Given the description of an element on the screen output the (x, y) to click on. 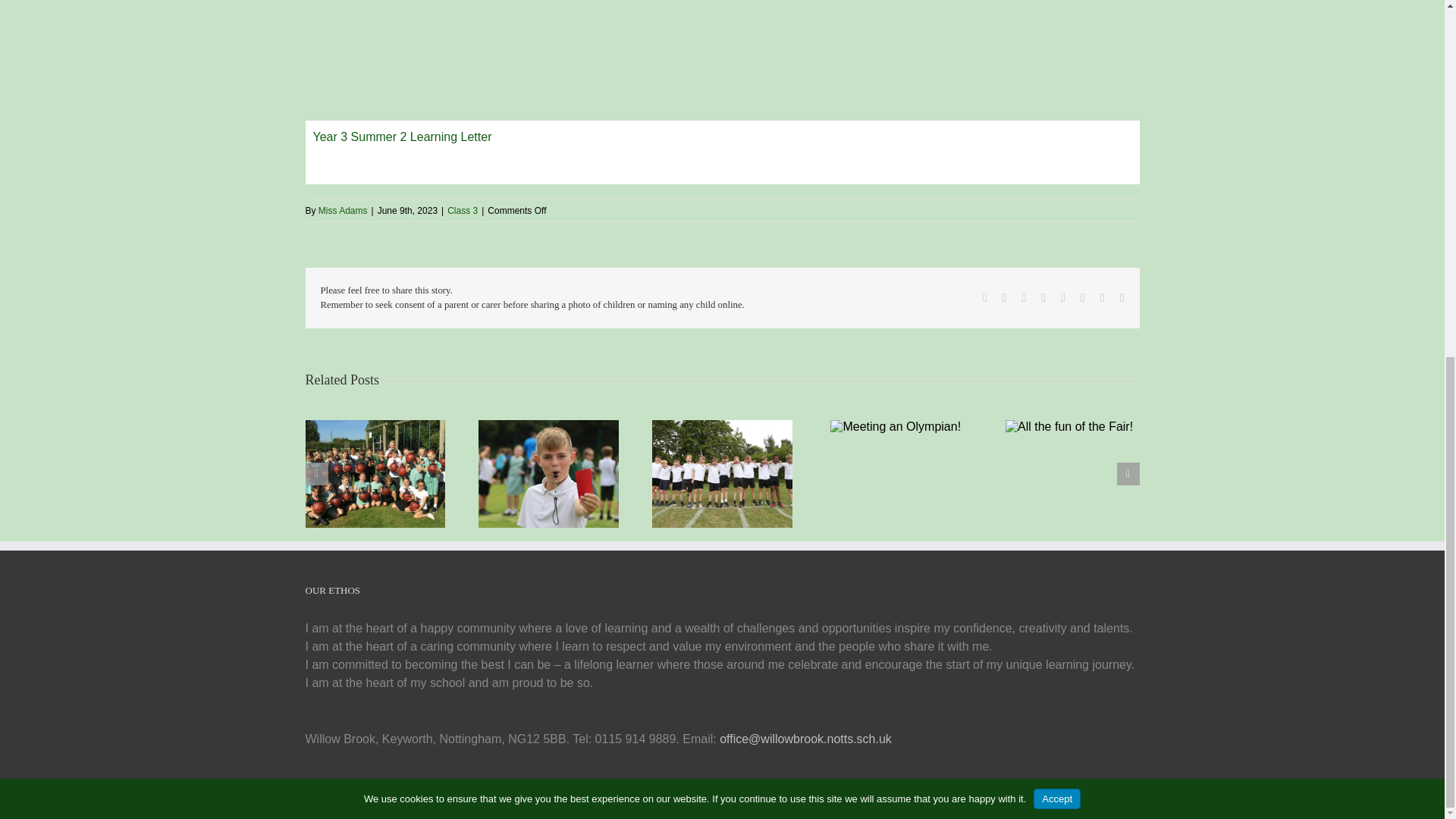
Year 3 Summer 2 Learning Letter (721, 152)
Posts by Miss Adams (343, 210)
